Given the description of an element on the screen output the (x, y) to click on. 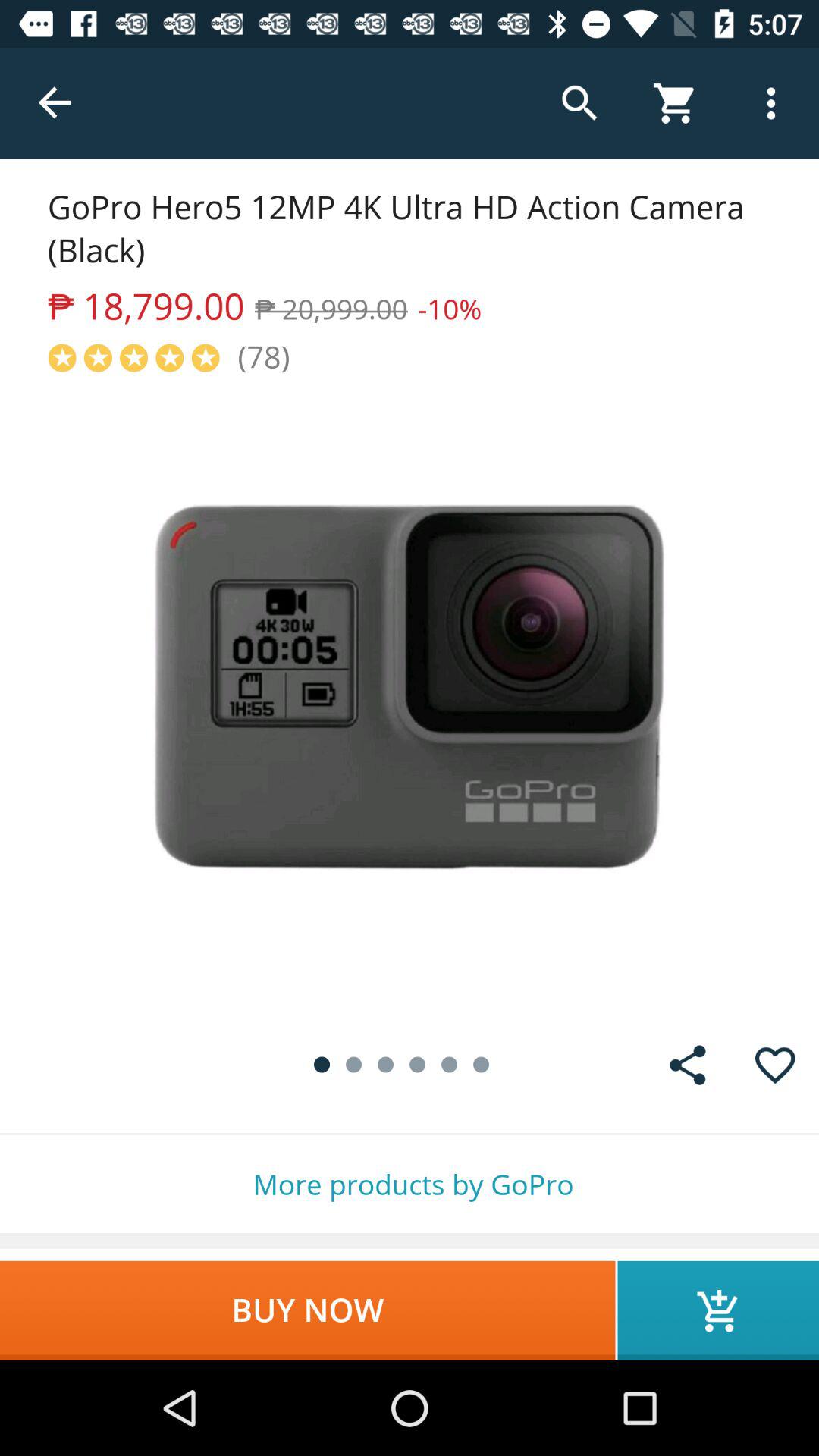
turn on icon next to buy now (718, 1310)
